Given the description of an element on the screen output the (x, y) to click on. 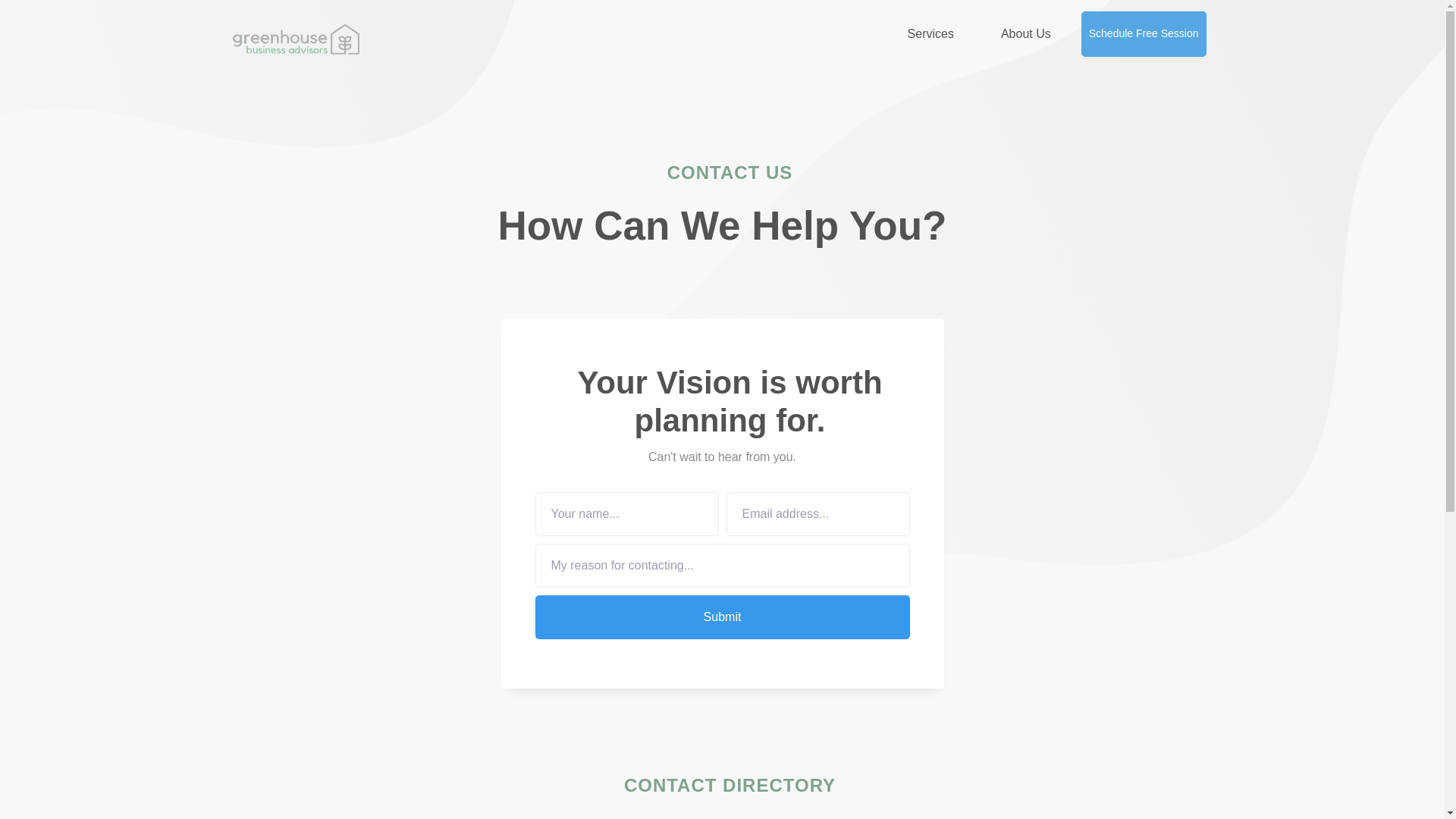
Schedule Free Session Element type: text (1143, 33)
Services Element type: text (937, 33)
About Us Element type: text (1032, 33)
Submit Element type: text (722, 617)
